Given the description of an element on the screen output the (x, y) to click on. 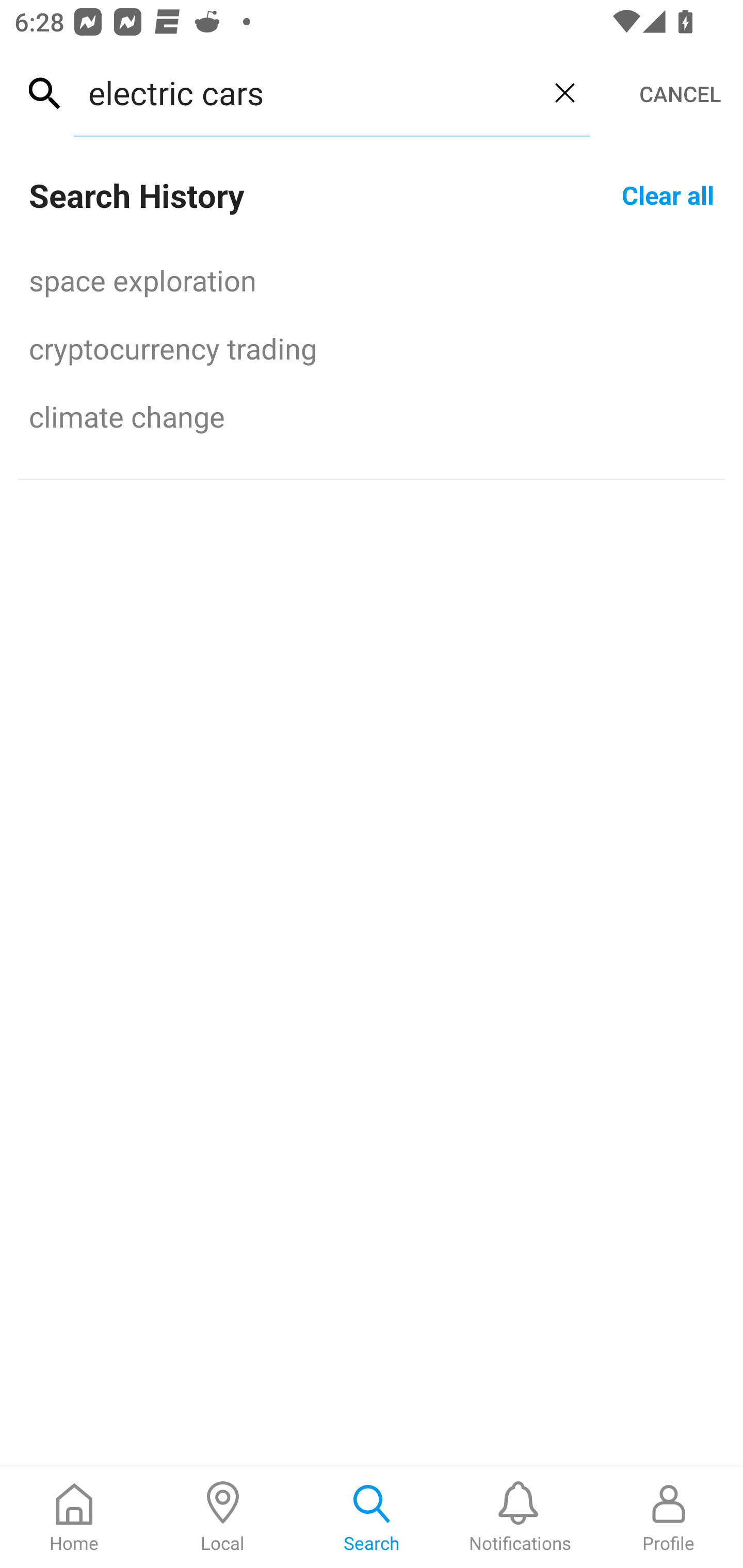
Clear query (564, 92)
CANCEL (680, 93)
electric cars (306, 92)
Clear all (667, 194)
space exploration (371, 279)
cryptocurrency trading (371, 347)
climate change (371, 416)
Home (74, 1517)
Local (222, 1517)
Notifications (519, 1517)
Profile (668, 1517)
